Given the description of an element on the screen output the (x, y) to click on. 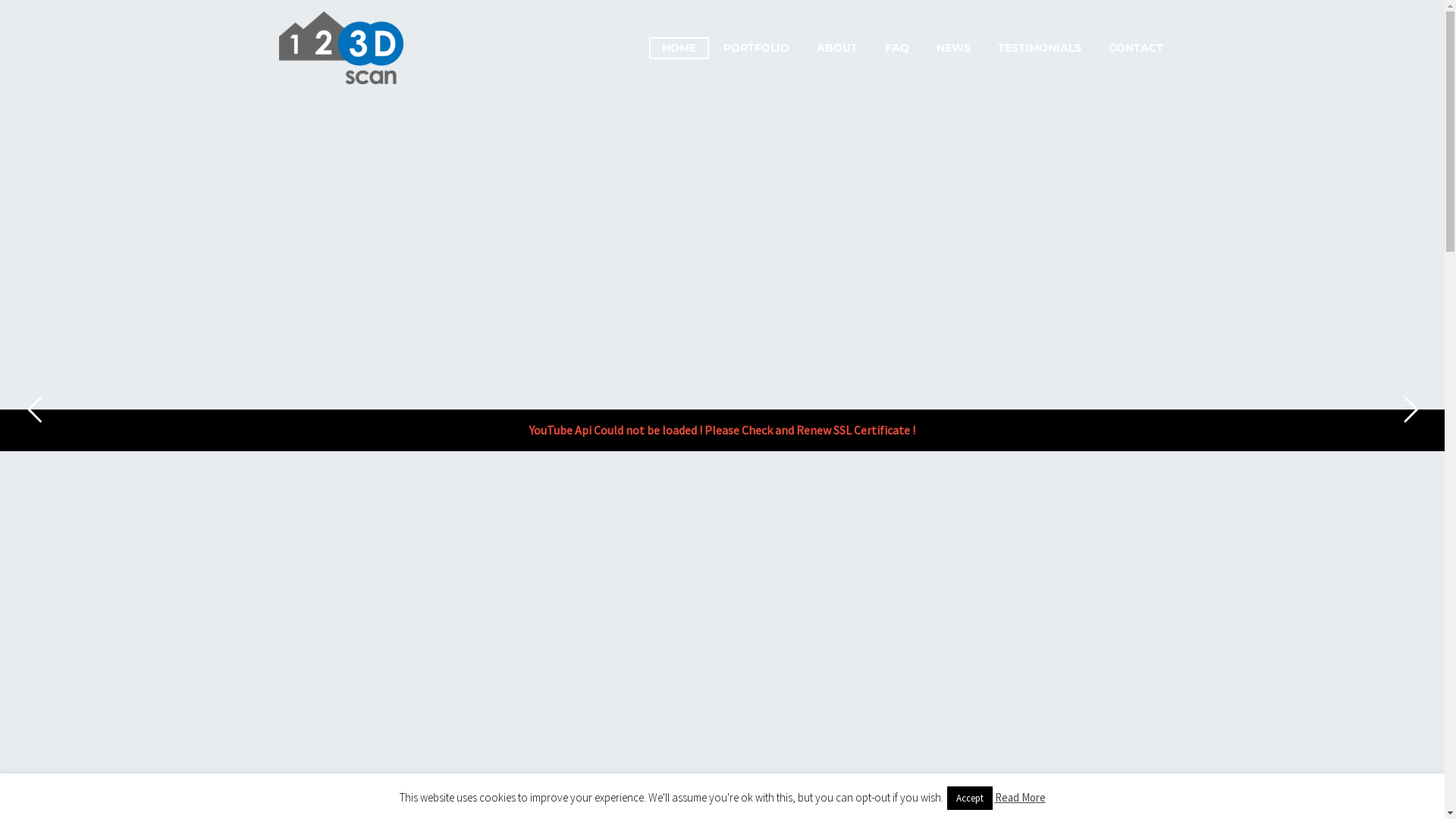
TESTIMONIALS Element type: text (1038, 46)
PORTFOLIO Element type: text (755, 46)
CONTACT Element type: text (1134, 46)
NEWS Element type: text (953, 46)
ABOUT Element type: text (837, 46)
Accept Element type: text (968, 797)
FAQ Element type: text (896, 46)
Read More Element type: text (1019, 796)
HOME Element type: text (679, 47)
